Given the description of an element on the screen output the (x, y) to click on. 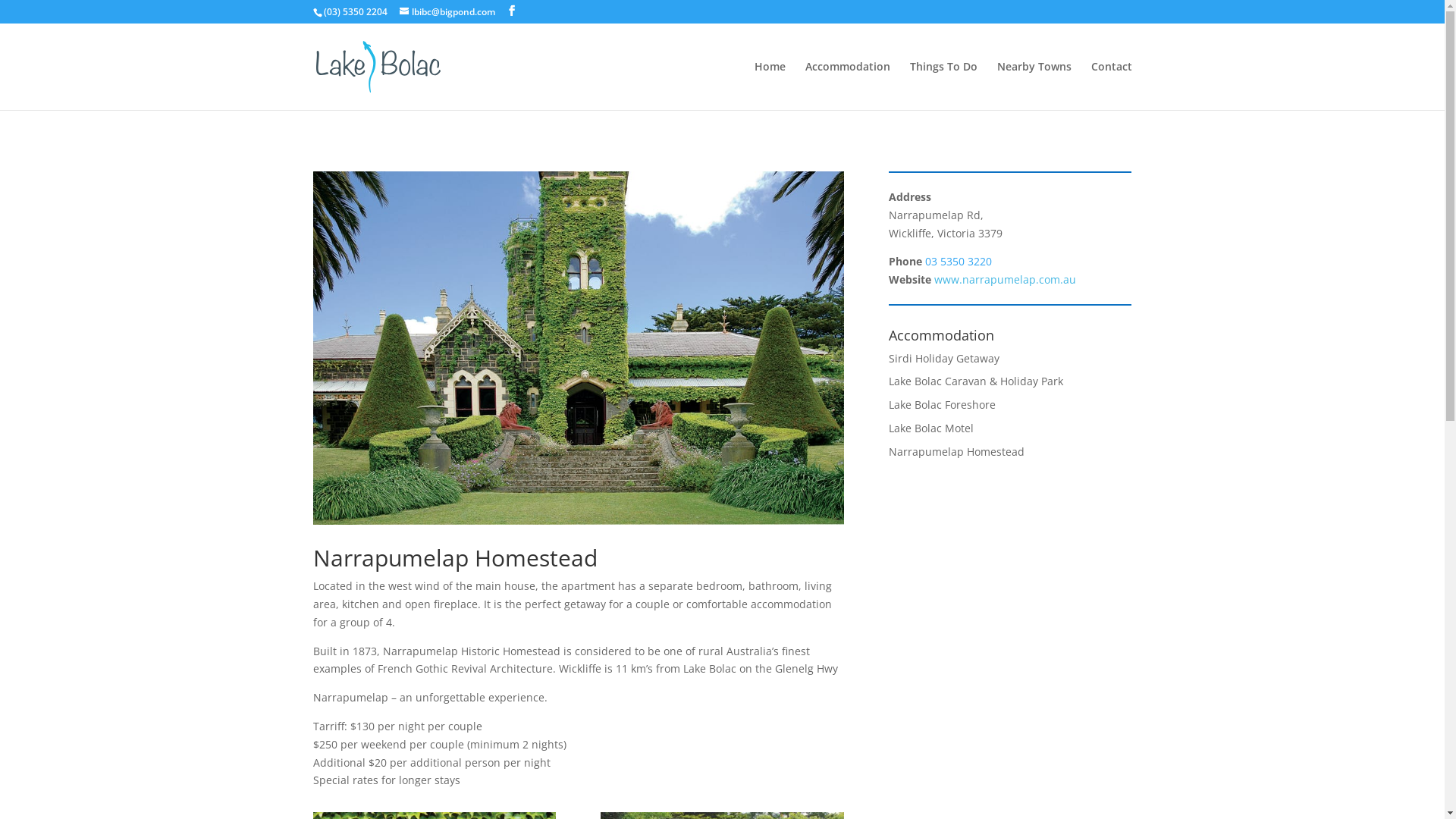
Lake Bolac Foreshore Element type: text (941, 404)
Narrapumelap Homestead Element type: text (956, 451)
lbibc@bigpond.com Element type: text (446, 11)
Sirdi Holiday Getaway Element type: text (943, 358)
03 5350 3220 Element type: text (958, 261)
www.narrapumelap.com.au Element type: text (1005, 279)
Lake Bolac Caravan & Holiday Park Element type: text (975, 380)
Home Element type: text (768, 85)
Nearby Towns Element type: text (1033, 85)
Accommodation Element type: text (847, 85)
Things To Do Element type: text (943, 85)
Contact Element type: text (1110, 85)
Lake Bolac Motel Element type: text (930, 427)
